Given the description of an element on the screen output the (x, y) to click on. 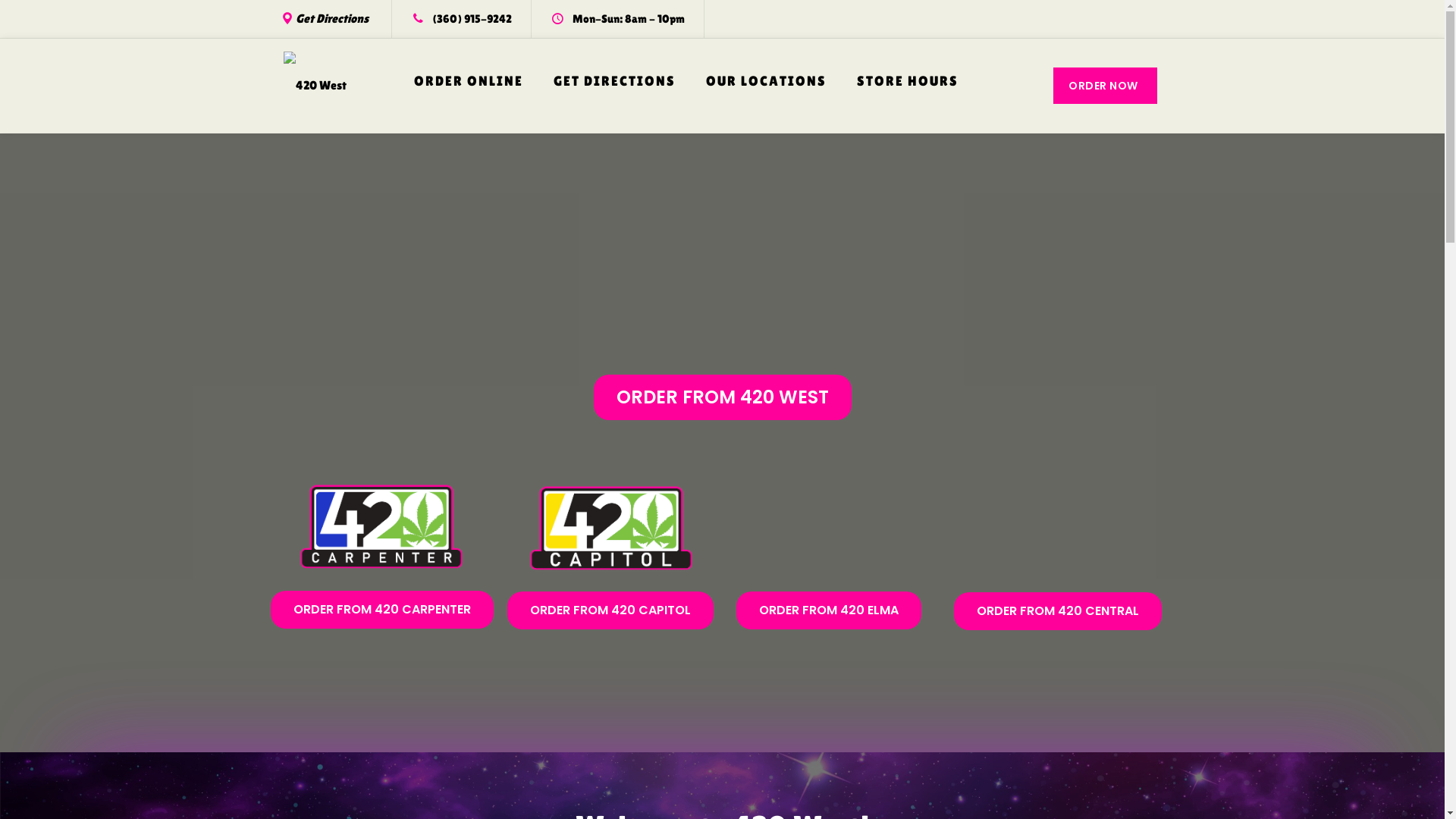
ORDER FROM 420 CAPITOL Element type: text (609, 610)
ORDER FROM 420 ELMA Element type: text (827, 610)
ORDER NOW Element type: text (1105, 85)
STORE HOURS Element type: text (907, 81)
OUR LOCATIONS Element type: text (766, 81)
(360) 915-9242 Element type: text (471, 18)
ORDER ONLINE Element type: text (468, 81)
ORDER FROM 420 CENTRAL Element type: text (1057, 611)
Get Directions Element type: text (331, 18)
GET DIRECTIONS Element type: text (614, 81)
ORDER FROM 420 WEST Element type: text (721, 397)
ORDER FROM 420 CARPENTER Element type: text (380, 609)
